Given the description of an element on the screen output the (x, y) to click on. 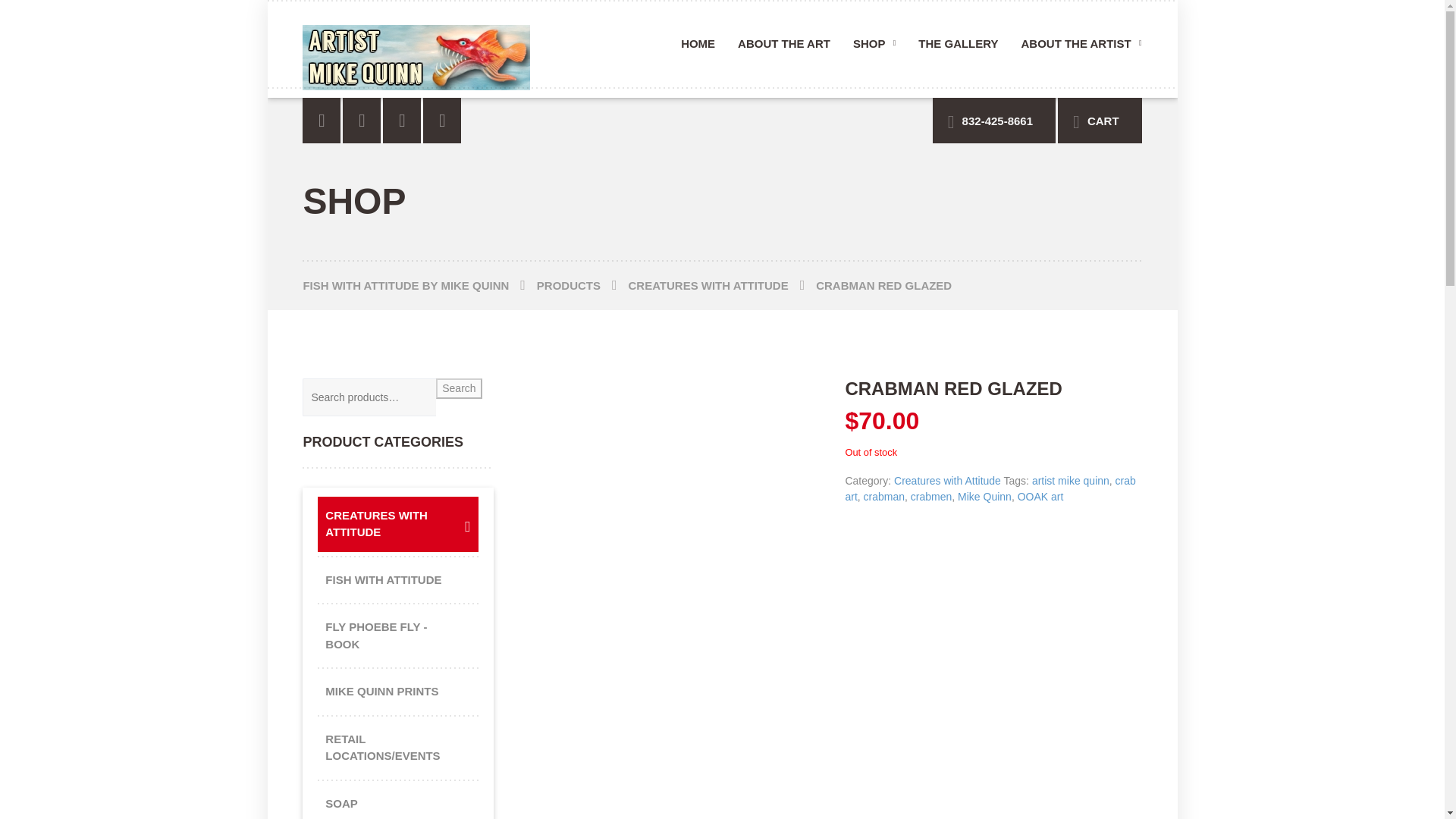
Go to Products. (582, 285)
Mike Quinn (984, 496)
Go to Fish With Attitude by Mike Quinn. (418, 285)
OOAK art (1040, 496)
Creatures with Attitude (947, 480)
Go to the Creatures with Attitude Product Category archives. (721, 285)
ABOUT THE ART (783, 48)
crab art (989, 488)
crabman (883, 496)
THE GALLERY (958, 48)
